Given the description of an element on the screen output the (x, y) to click on. 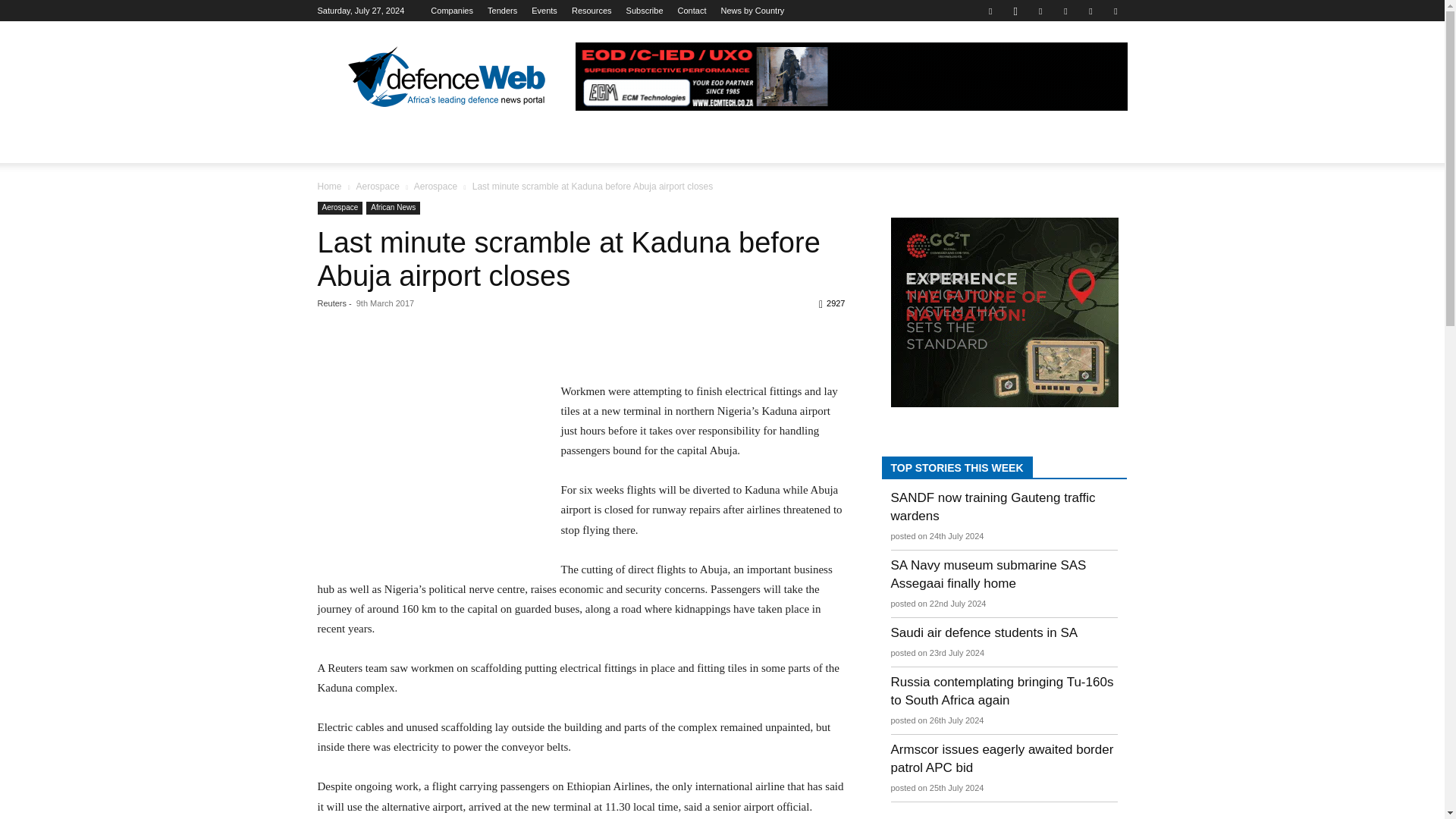
Mail (1065, 10)
Facebook (989, 10)
Instagram (1015, 10)
Twitter (1090, 10)
Linkedin (1040, 10)
Youtube (1114, 10)
